Given the description of an element on the screen output the (x, y) to click on. 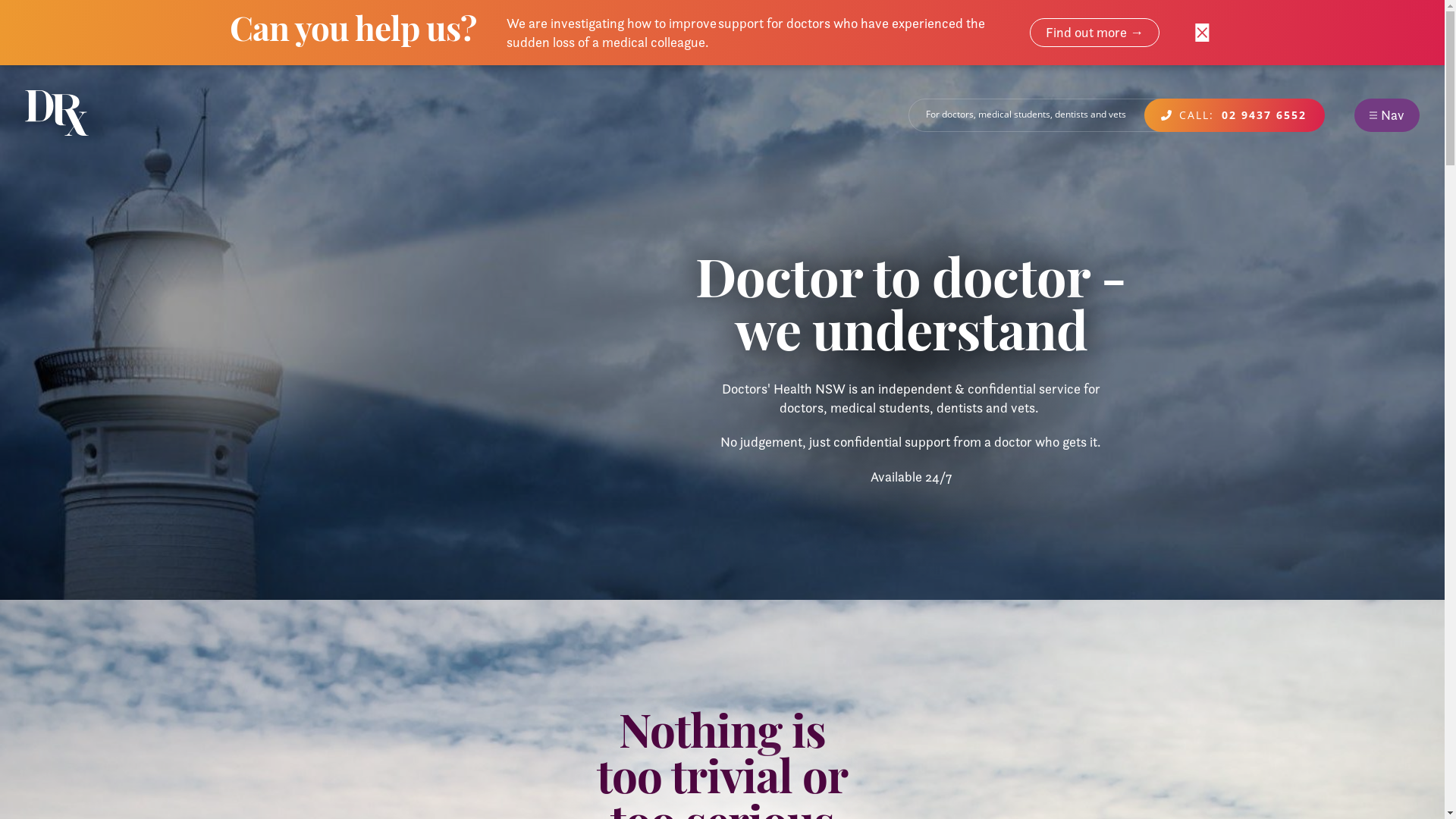
Find out more Element type: text (1094, 32)
CALL:
02 9437 6552 Element type: text (1234, 114)
